Given the description of an element on the screen output the (x, y) to click on. 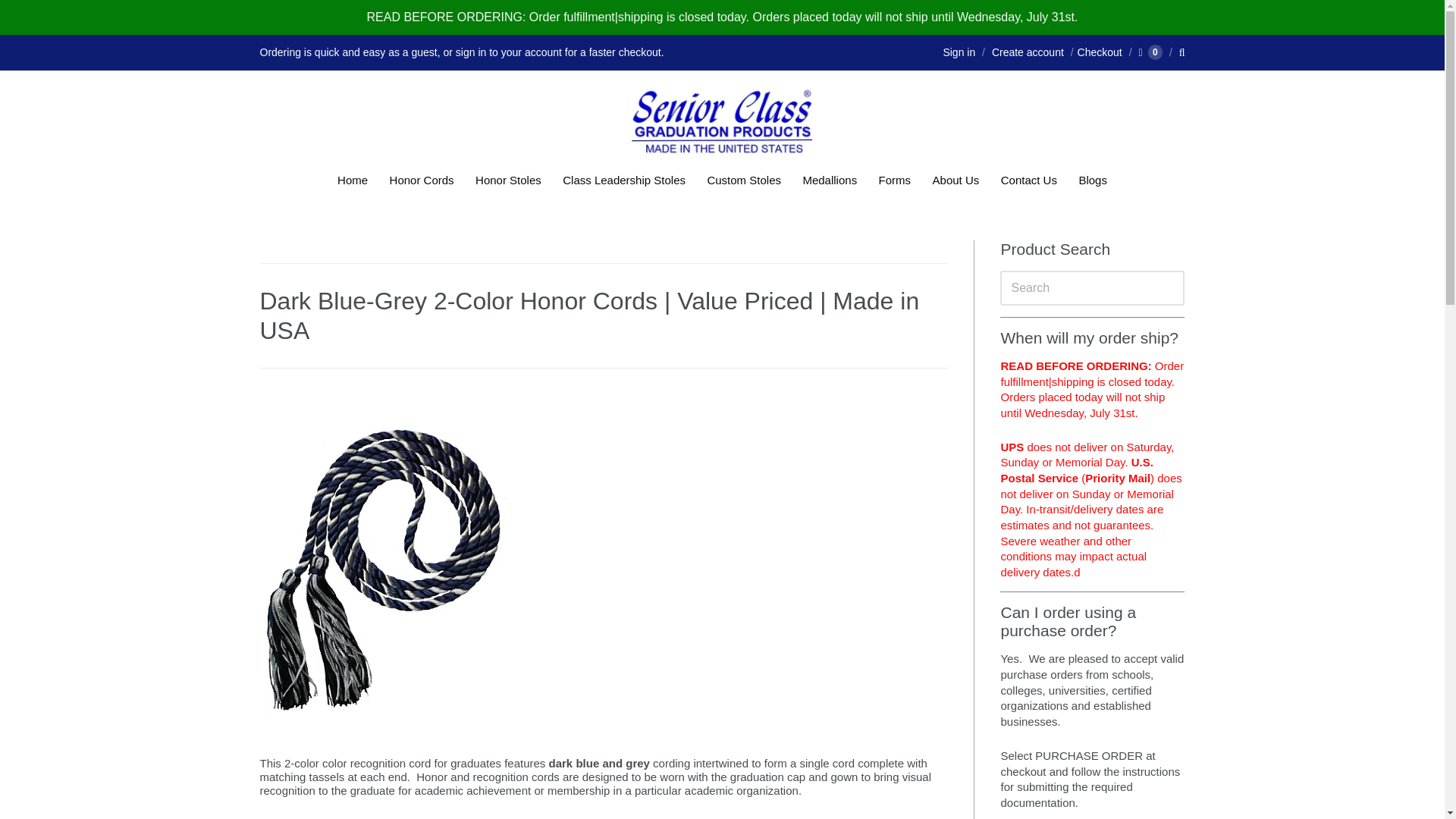
Create account (1027, 51)
0 (1149, 51)
Checkout (1094, 51)
Honor Cords (421, 179)
Honor Stoles (507, 179)
Home (353, 179)
Forms (894, 179)
Blogs (1092, 179)
About Us (955, 179)
Custom Stoles (743, 179)
Contact Us (1028, 179)
Sign in (958, 51)
Senior Class Graduation Products (721, 121)
Medallions (829, 179)
Class Leadership Stoles (623, 179)
